Given the description of an element on the screen output the (x, y) to click on. 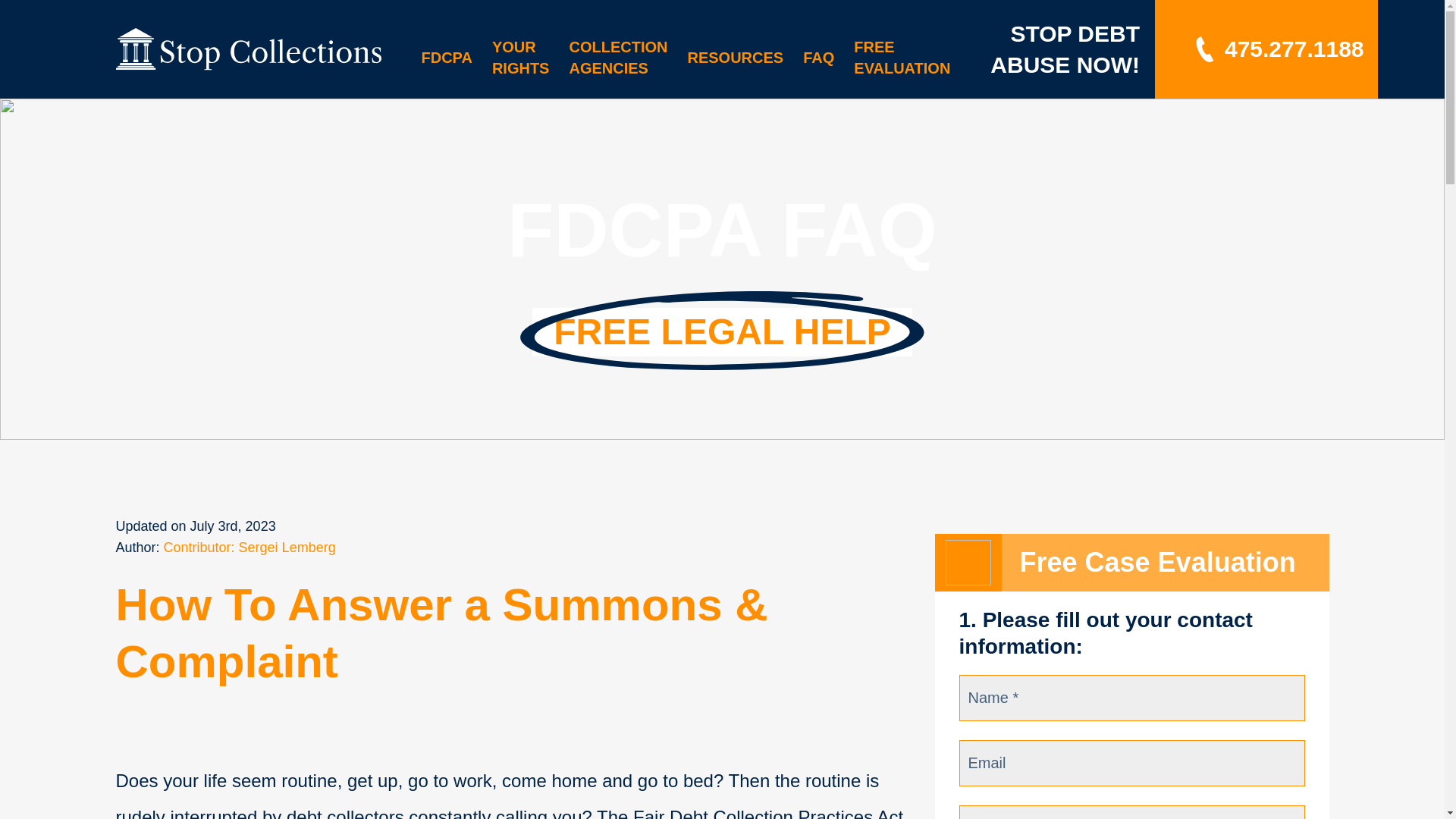
FREE LEGAL HELP (722, 331)
RESOURCES (735, 57)
475.277.1188 (1277, 49)
FREE EVALUATION (901, 57)
YOUR RIGHTS (521, 57)
FAQ (818, 57)
FDCPA (446, 57)
COLLECTION AGENCIES (617, 57)
Contributor: Sergei Lemberg (249, 547)
